Given the description of an element on the screen output the (x, y) to click on. 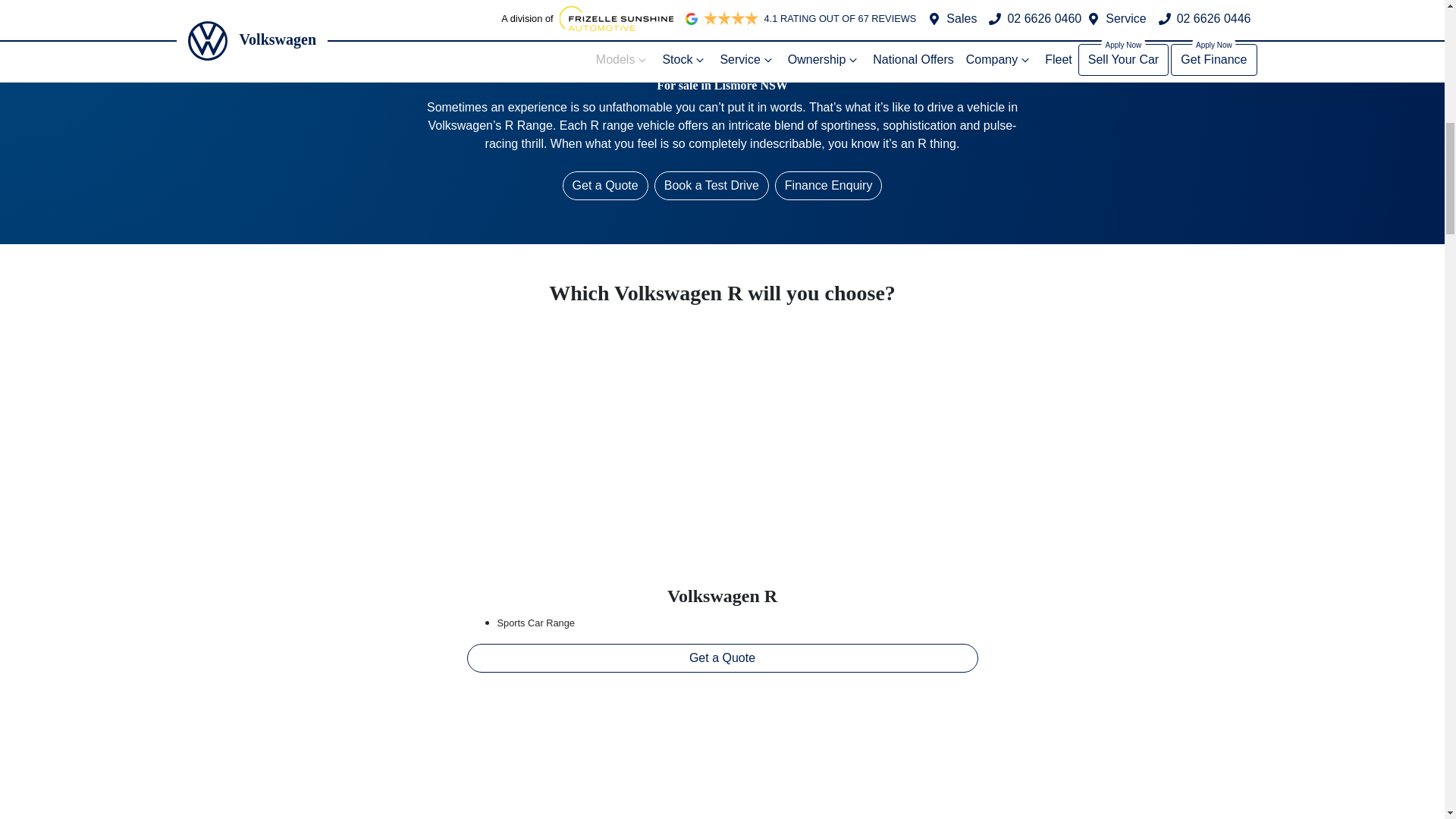
Get a Quote (722, 657)
Book a Test Drive (710, 185)
Get a Quote (604, 185)
Finance Enquiry (828, 185)
